Given the description of an element on the screen output the (x, y) to click on. 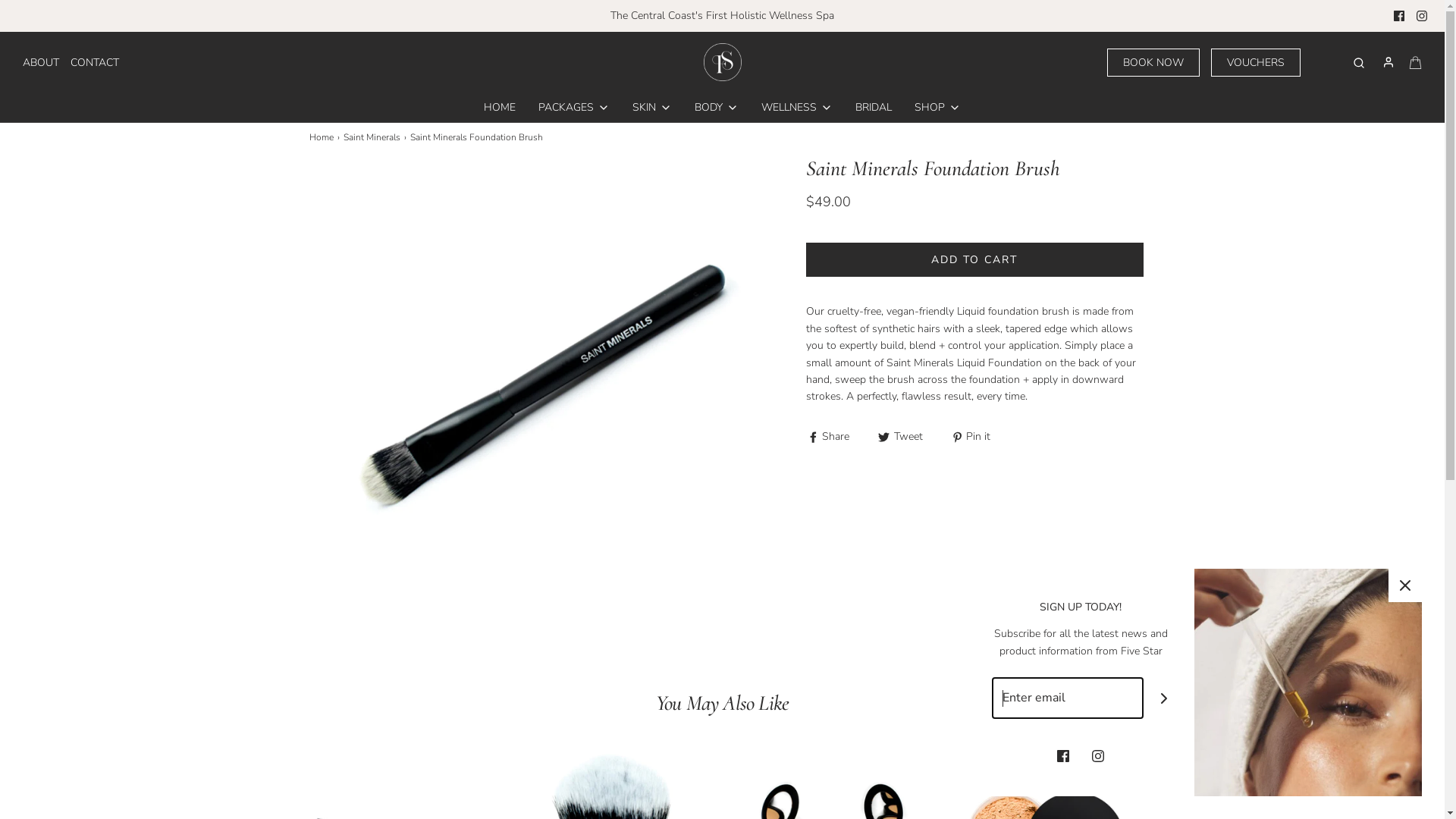
ABOUT Element type: text (40, 62)
Search Element type: hover (1358, 62)
HOME Element type: text (499, 107)
Log in Element type: hover (1388, 62)
Share Element type: text (829, 436)
WELLNESS Element type: text (796, 107)
VOUCHERS Element type: text (1255, 62)
Cart Element type: hover (1414, 62)
BOOK NOW Element type: text (1153, 62)
SKIN Element type: text (651, 107)
Facebook icon Element type: text (1063, 754)
The Central Coast's First Holistic Wellness Spa Element type: text (722, 15)
SHOP Element type: text (937, 107)
Saint Minerals Element type: text (372, 137)
Home Element type: text (323, 137)
Instagram icon Element type: text (1421, 15)
BODY Element type: text (716, 107)
ADD TO CART Element type: text (973, 259)
PACKAGES Element type: text (573, 107)
CONTACT Element type: text (94, 62)
Tweet Element type: text (901, 436)
Pin it Element type: text (970, 436)
BRIDAL Element type: text (873, 107)
Instagram icon Element type: text (1098, 754)
Facebook icon Element type: text (1398, 15)
